Given the description of an element on the screen output the (x, y) to click on. 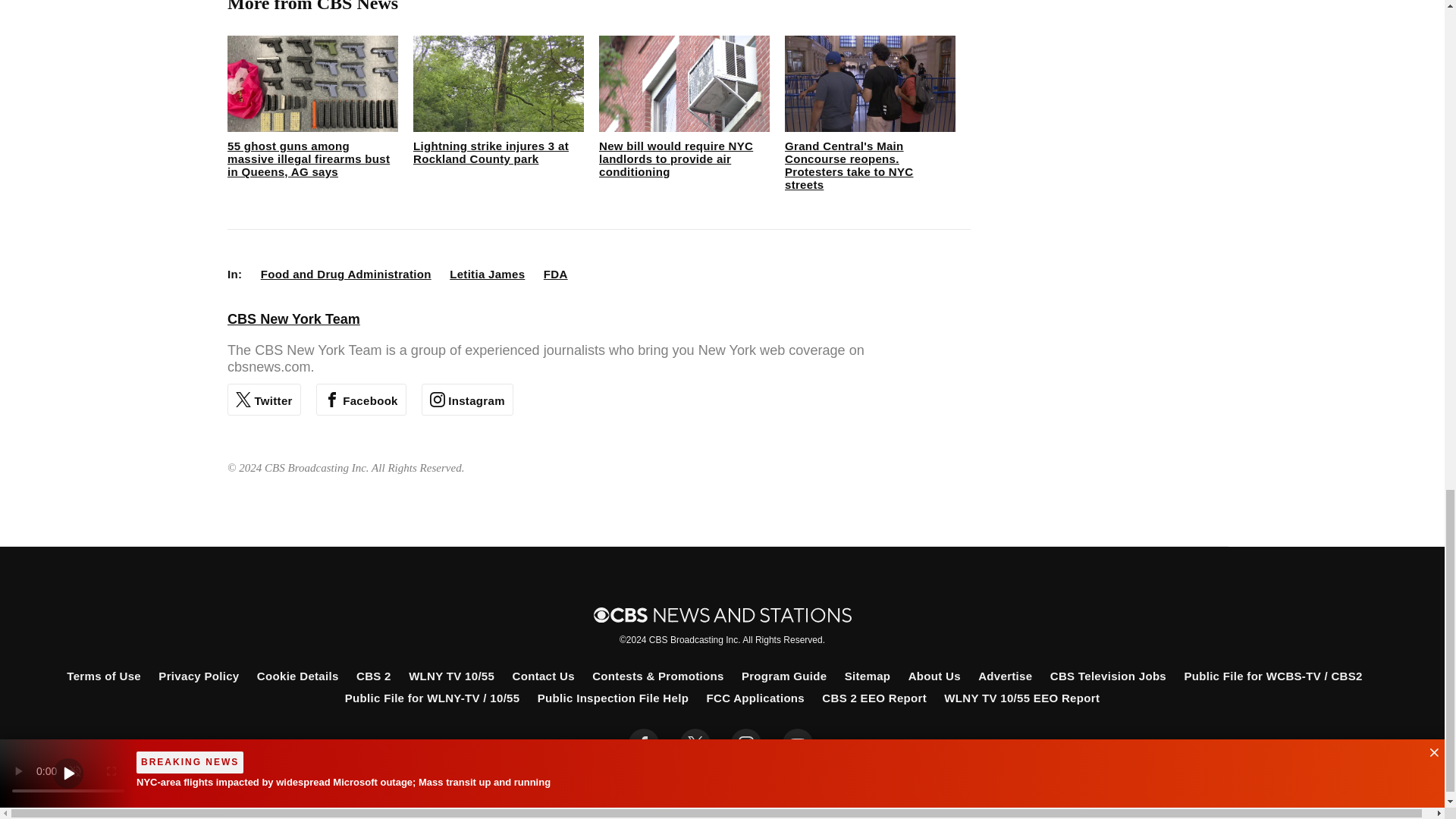
instagram (745, 743)
twitter (694, 743)
facebook (643, 743)
youtube (797, 743)
